Given the description of an element on the screen output the (x, y) to click on. 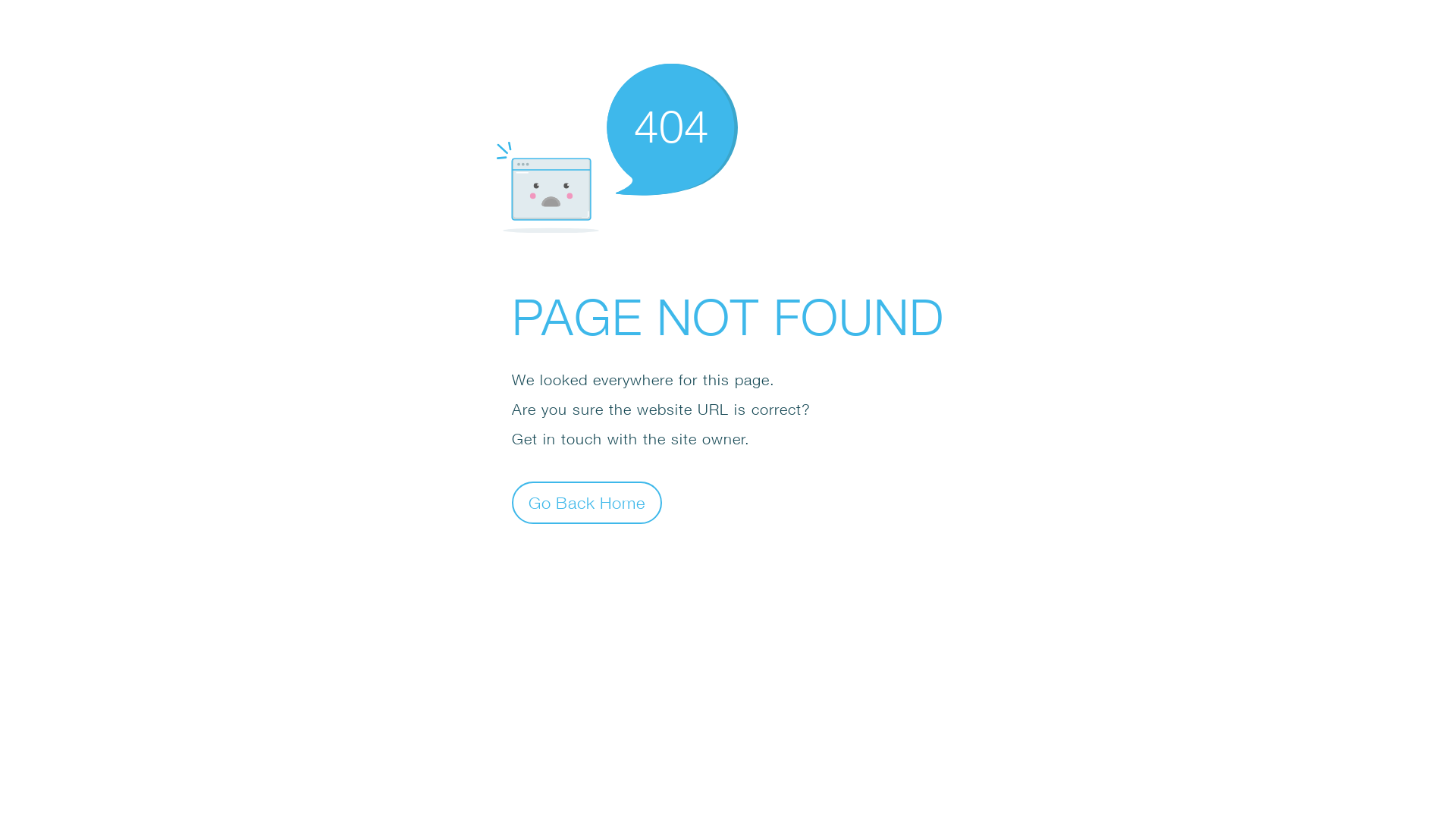
Go Back Home Element type: text (586, 502)
